Given the description of an element on the screen output the (x, y) to click on. 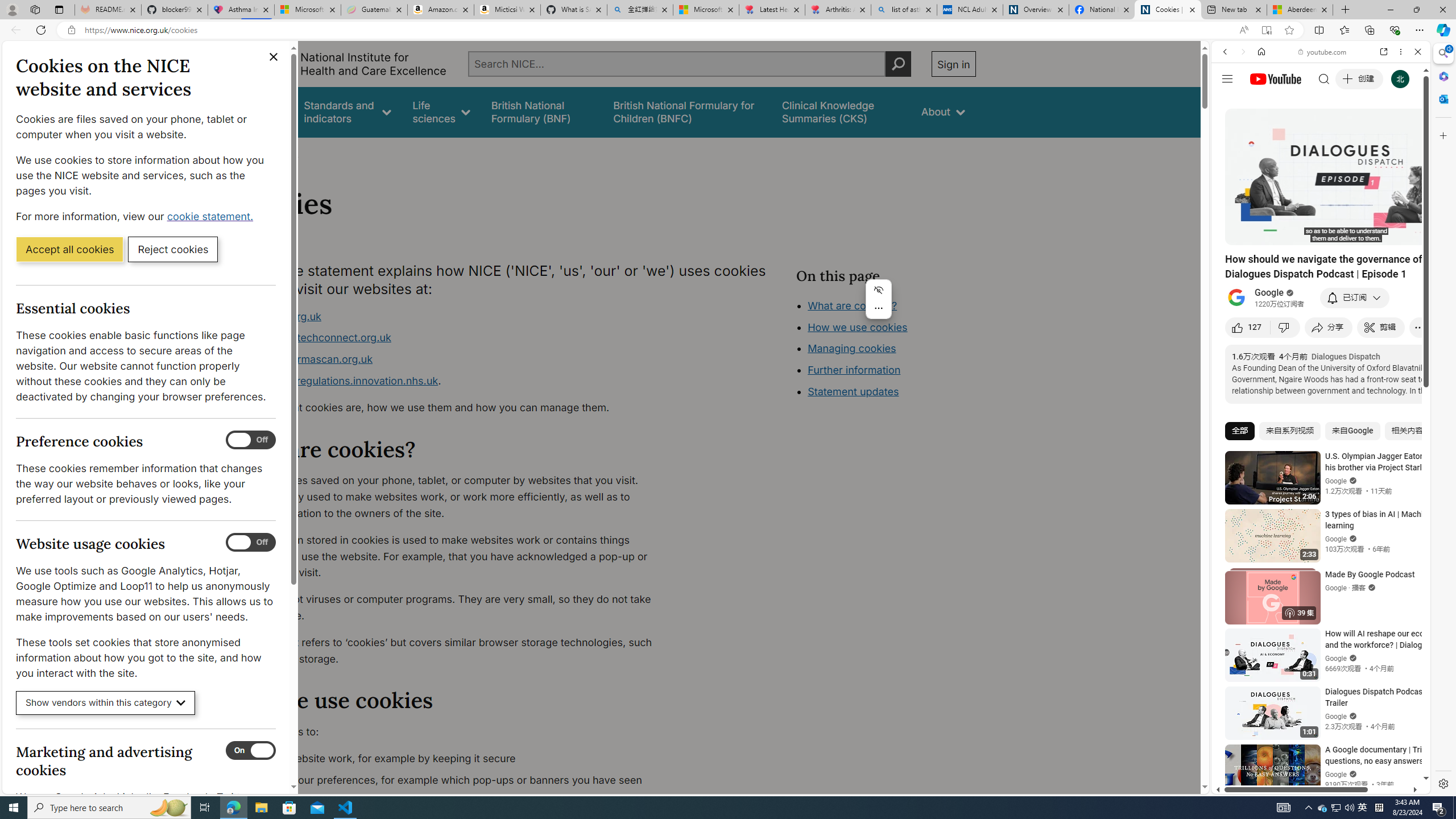
How we use cookies (857, 327)
Reject cookies (173, 248)
Show More Music (1390, 310)
Preference cookies (250, 439)
